Given the description of an element on the screen output the (x, y) to click on. 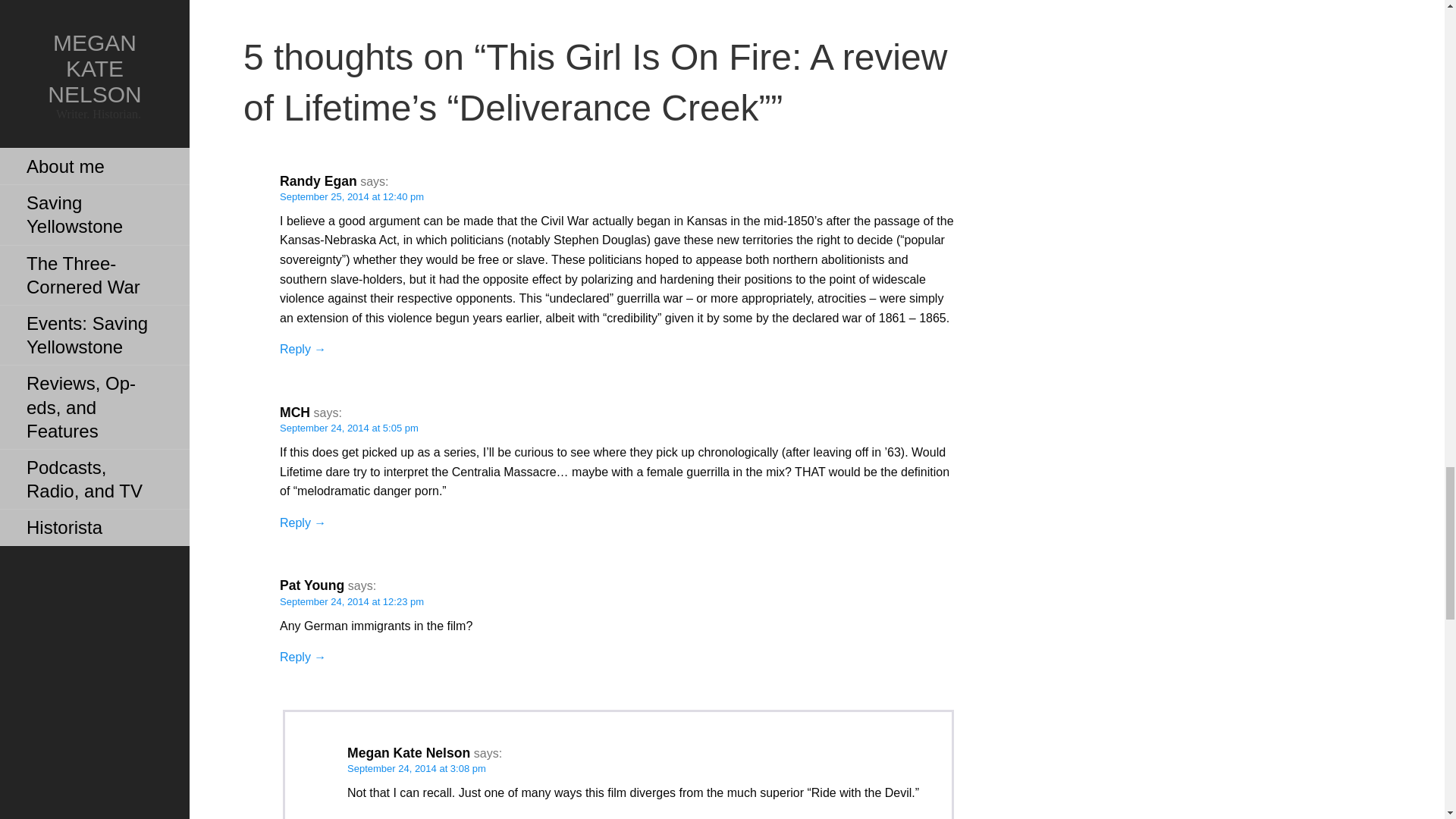
September 24, 2014 at 12:23 pm (351, 601)
September 24, 2014 at 5:05 pm (349, 428)
September 24, 2014 at 3:08 pm (416, 767)
Reply (302, 522)
Reply (302, 349)
Reply (302, 656)
September 25, 2014 at 12:40 pm (351, 196)
